Given the description of an element on the screen output the (x, y) to click on. 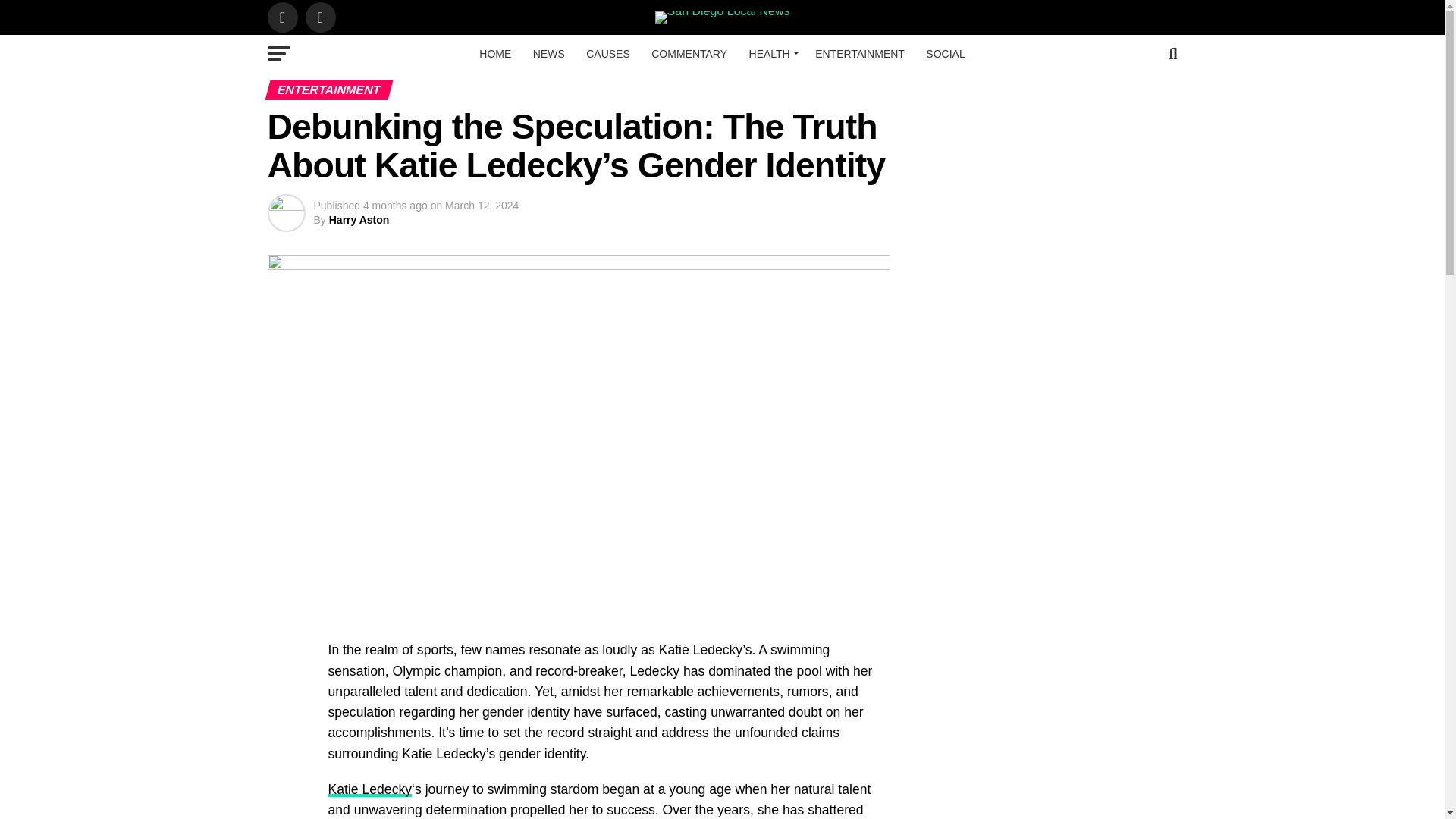
ENTERTAINMENT (860, 53)
NEWS (548, 53)
Posts by Harry Aston (359, 219)
CAUSES (607, 53)
Katie Ledecky (369, 789)
Harry Aston (359, 219)
HOME (494, 53)
COMMENTARY (689, 53)
HEALTH (771, 53)
SOCIAL (945, 53)
